Given the description of an element on the screen output the (x, y) to click on. 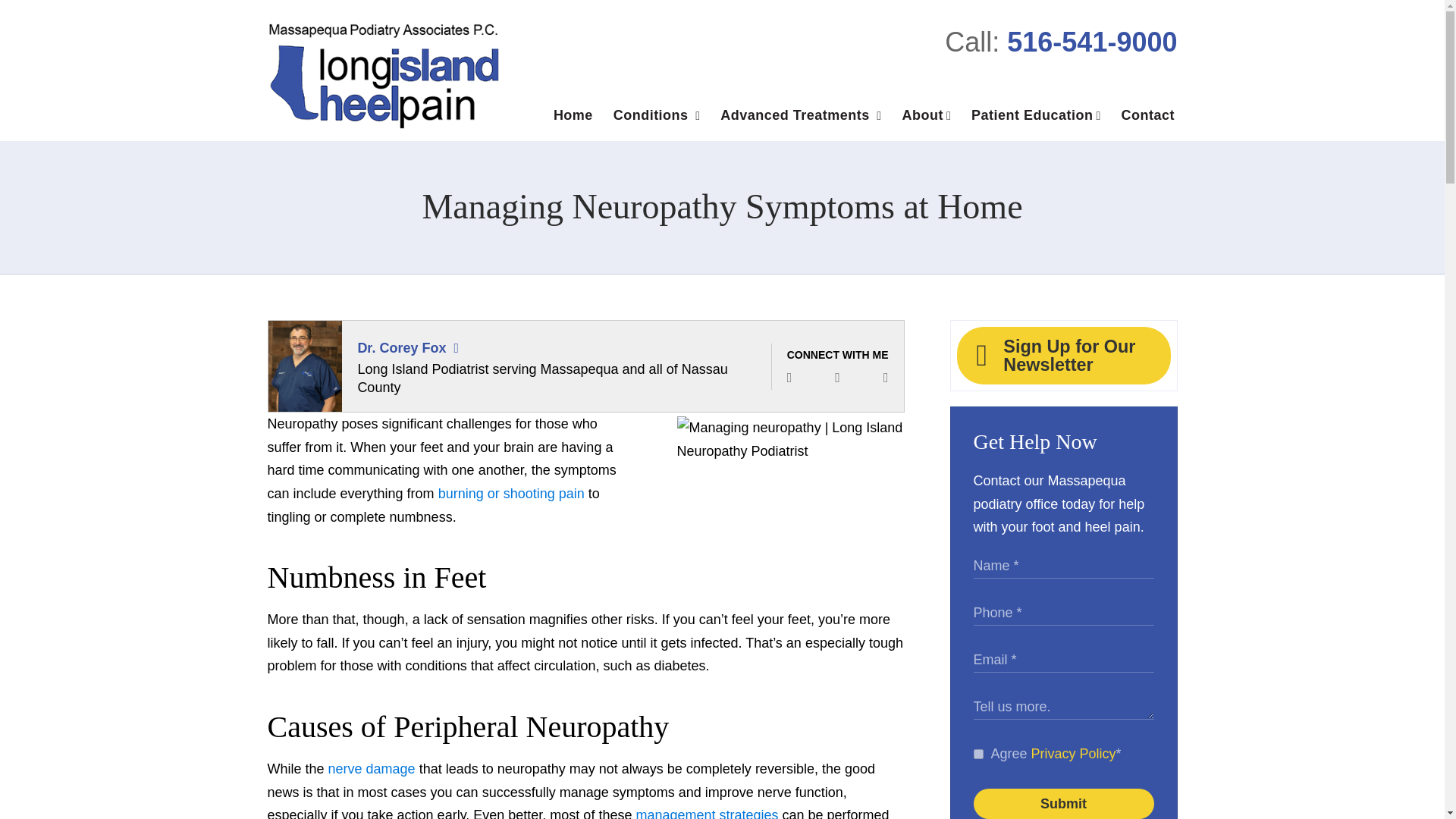
Why is diabetic foot care important (705, 813)
Managing neuropathy (790, 486)
Advanced Treatments (800, 118)
1 (979, 754)
Conditions (656, 118)
Patient Education (1036, 118)
Home (572, 118)
Contact (1147, 118)
Dr. Corey Fox (400, 347)
About (925, 118)
